Given the description of an element on the screen output the (x, y) to click on. 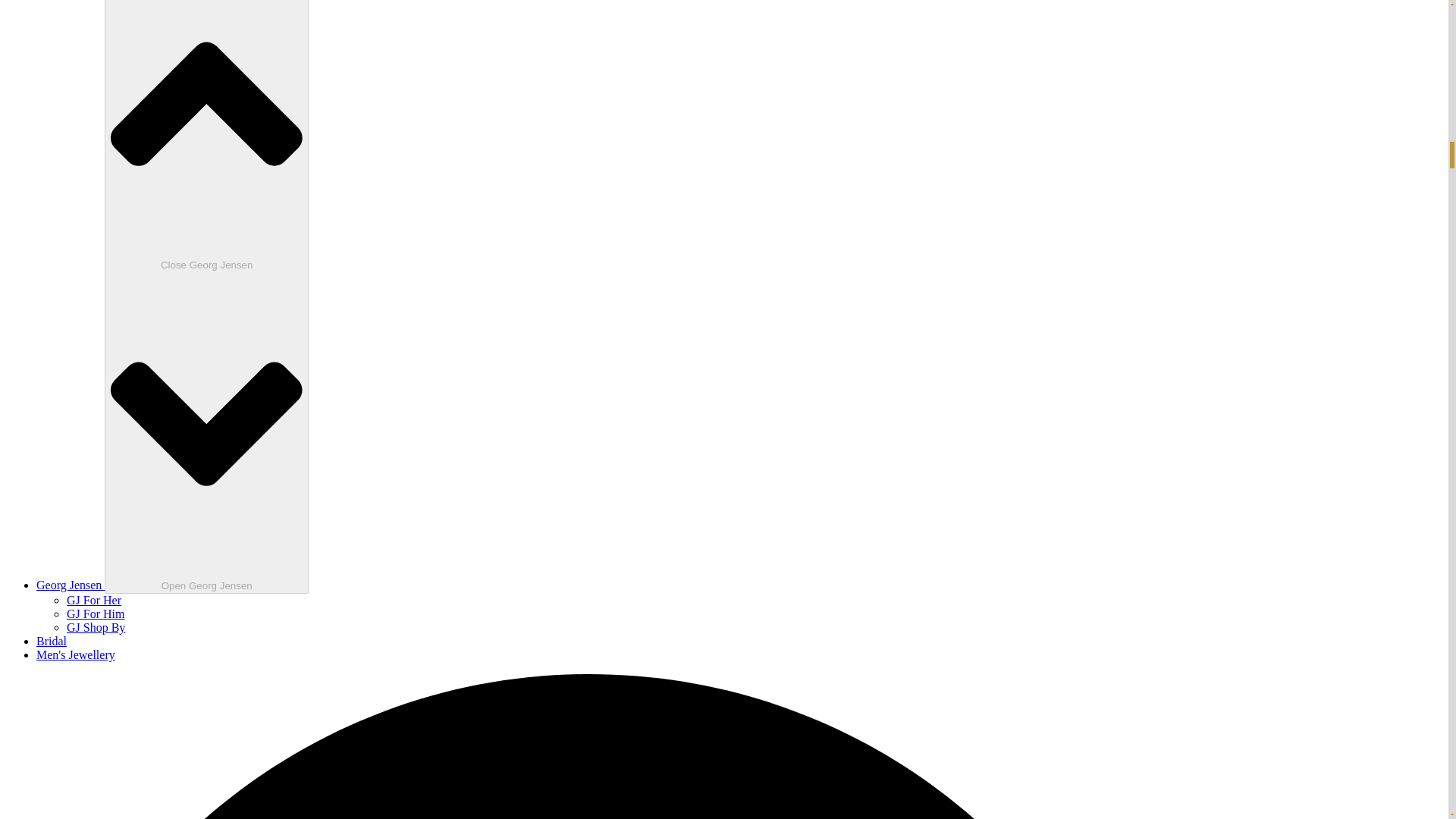
Close Georg Jensen Open Georg Jensen (206, 296)
Men's Jewellery (75, 654)
Georg Jensen (70, 584)
GJ Shop By (95, 626)
GJ For Her (93, 599)
Bridal (51, 640)
GJ For Him (94, 613)
